Given the description of an element on the screen output the (x, y) to click on. 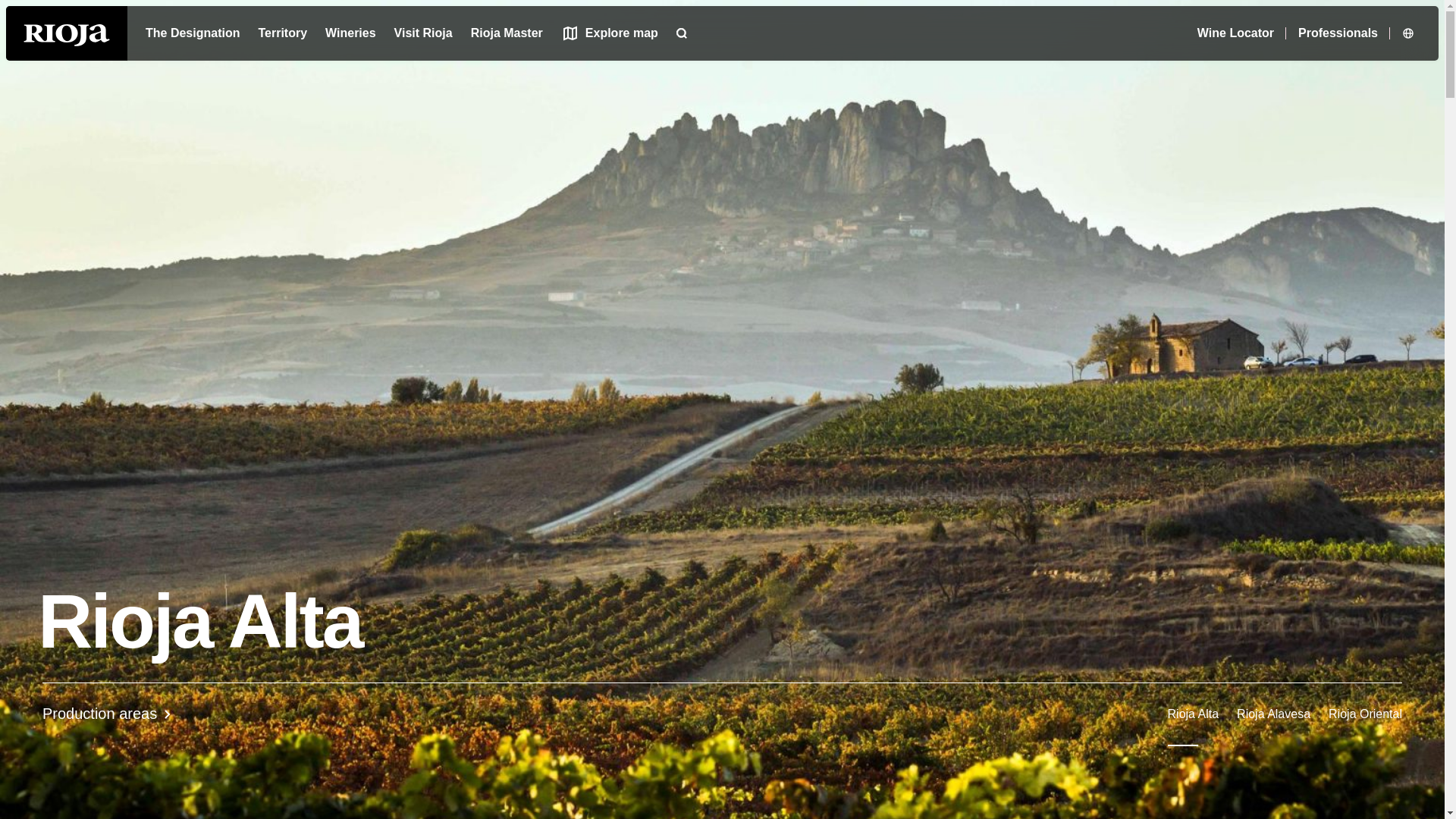
Visit Rioja (722, 714)
Wineries (423, 32)
The Designation (349, 32)
Territory (192, 32)
Open lang switcher (282, 32)
